Given the description of an element on the screen output the (x, y) to click on. 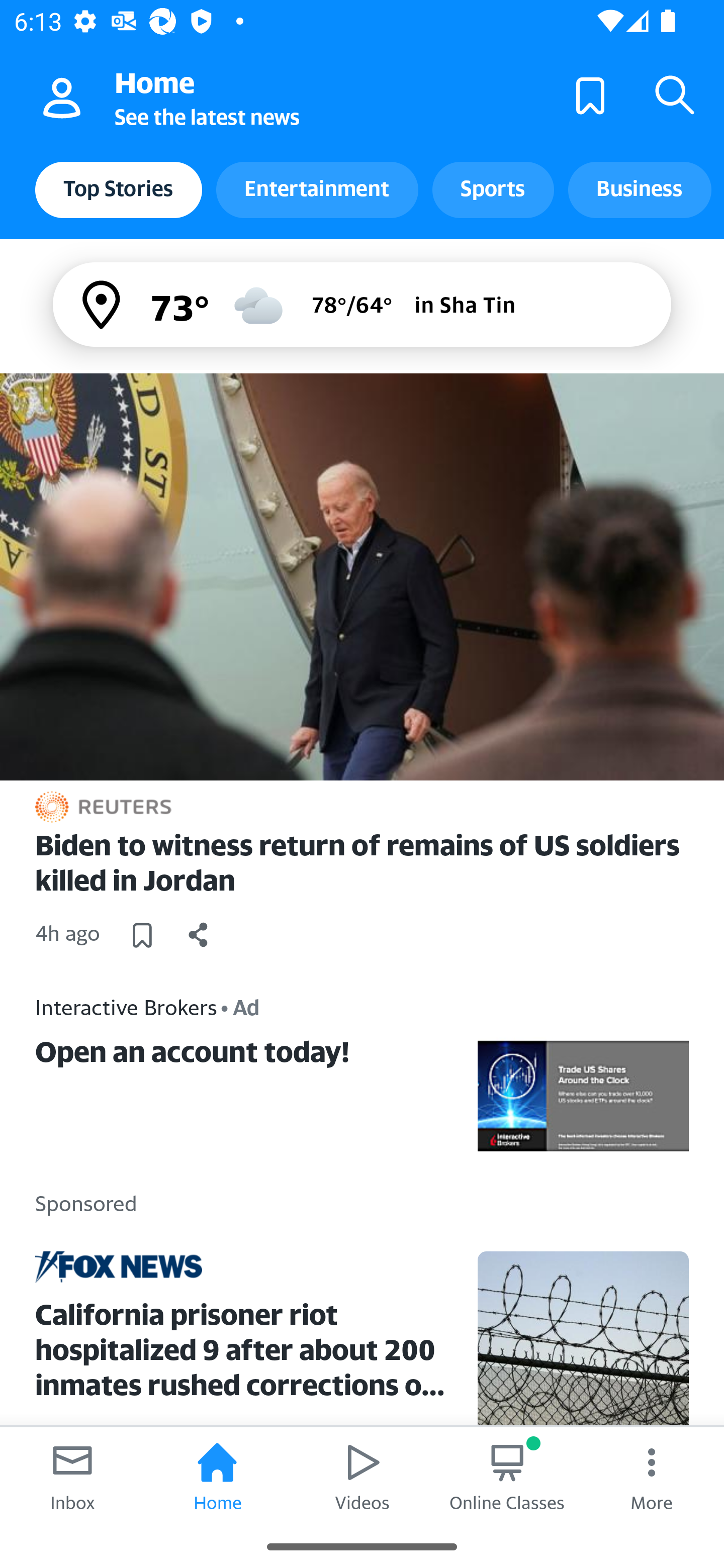
Access your saved articles (590, 94)
Search (674, 94)
Entertainment (317, 189)
Sports (492, 189)
Business (639, 189)
allow accurate location 73° 78°/64° in Sha Tin (361, 303)
allow accurate location (102, 304)
Save this article (142, 934)
Share this news article (198, 934)
• Ad (240, 1006)
Inbox (72, 1475)
Home (216, 1475)
Videos (361, 1475)
Online Classes (506, 1475)
More (651, 1475)
